Given the description of an element on the screen output the (x, y) to click on. 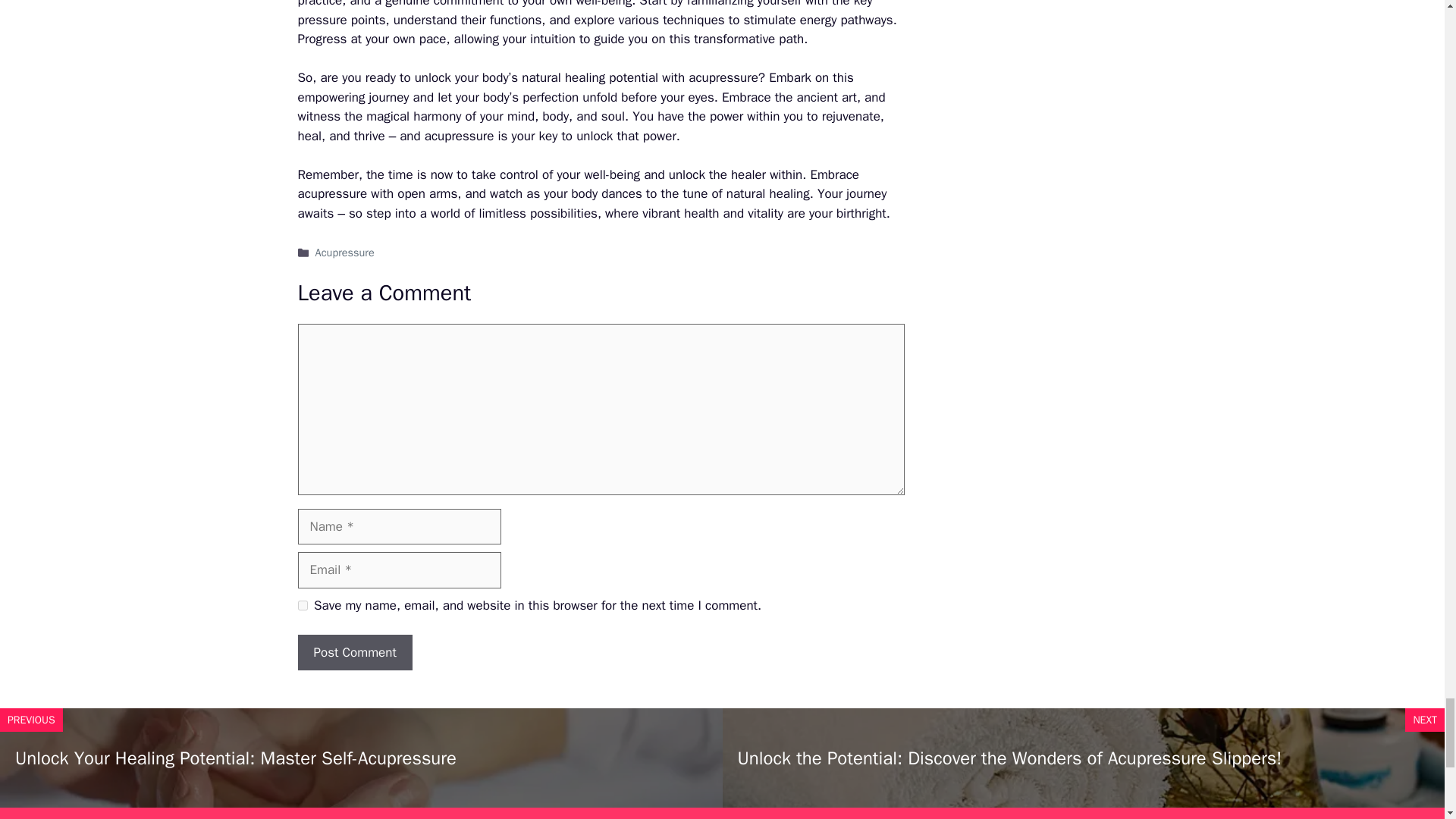
Post Comment (354, 652)
Unlock Your Healing Potential: Master Self-Acupressure (235, 757)
Post Comment (354, 652)
yes (302, 605)
Acupressure (344, 252)
